Given the description of an element on the screen output the (x, y) to click on. 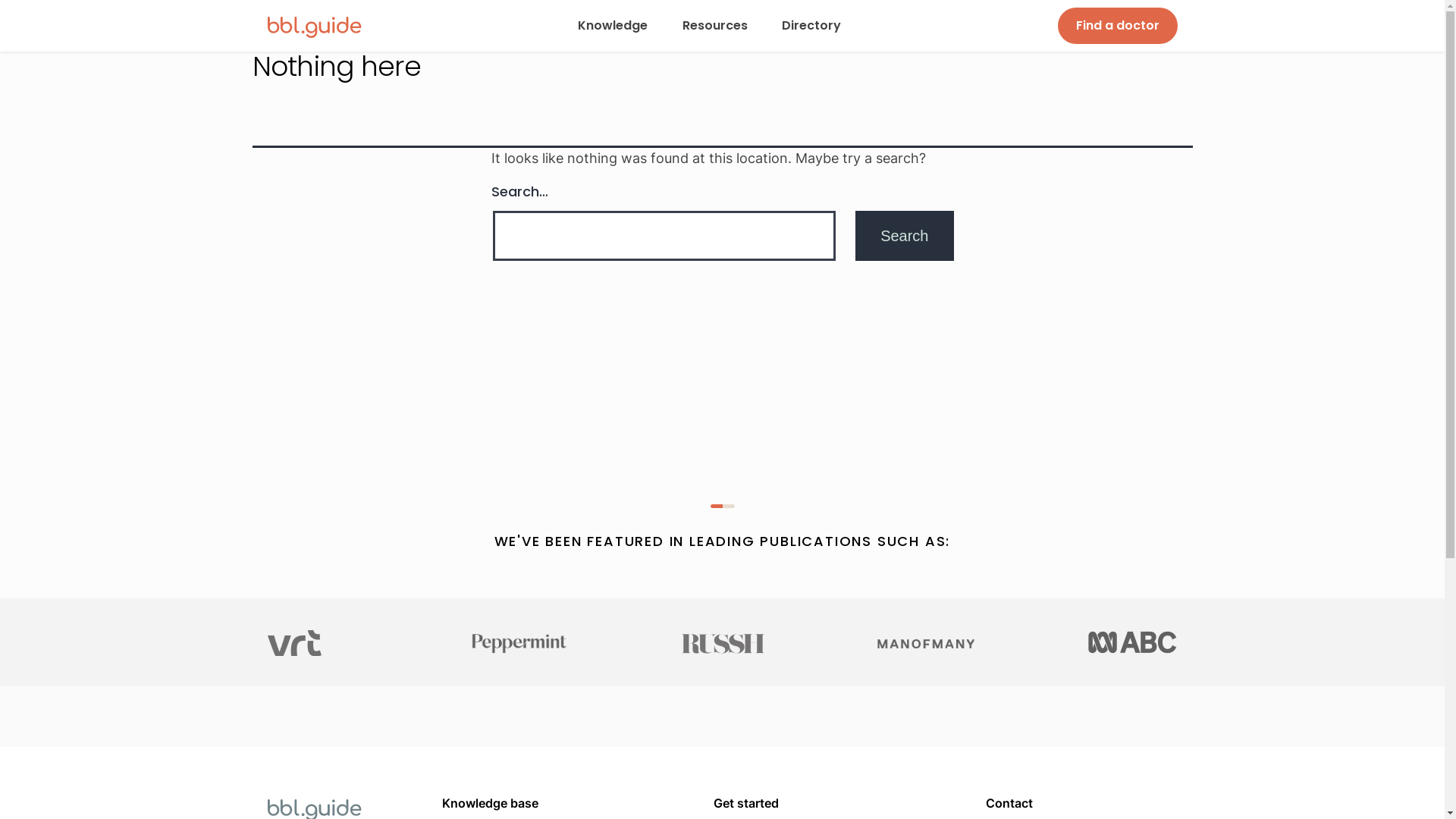
Search Element type: text (904, 235)
Directory Element type: text (811, 25)
Find a doctor Element type: text (1116, 25)
Knowledge Element type: text (612, 25)
Resources Element type: text (714, 25)
